Given the description of an element on the screen output the (x, y) to click on. 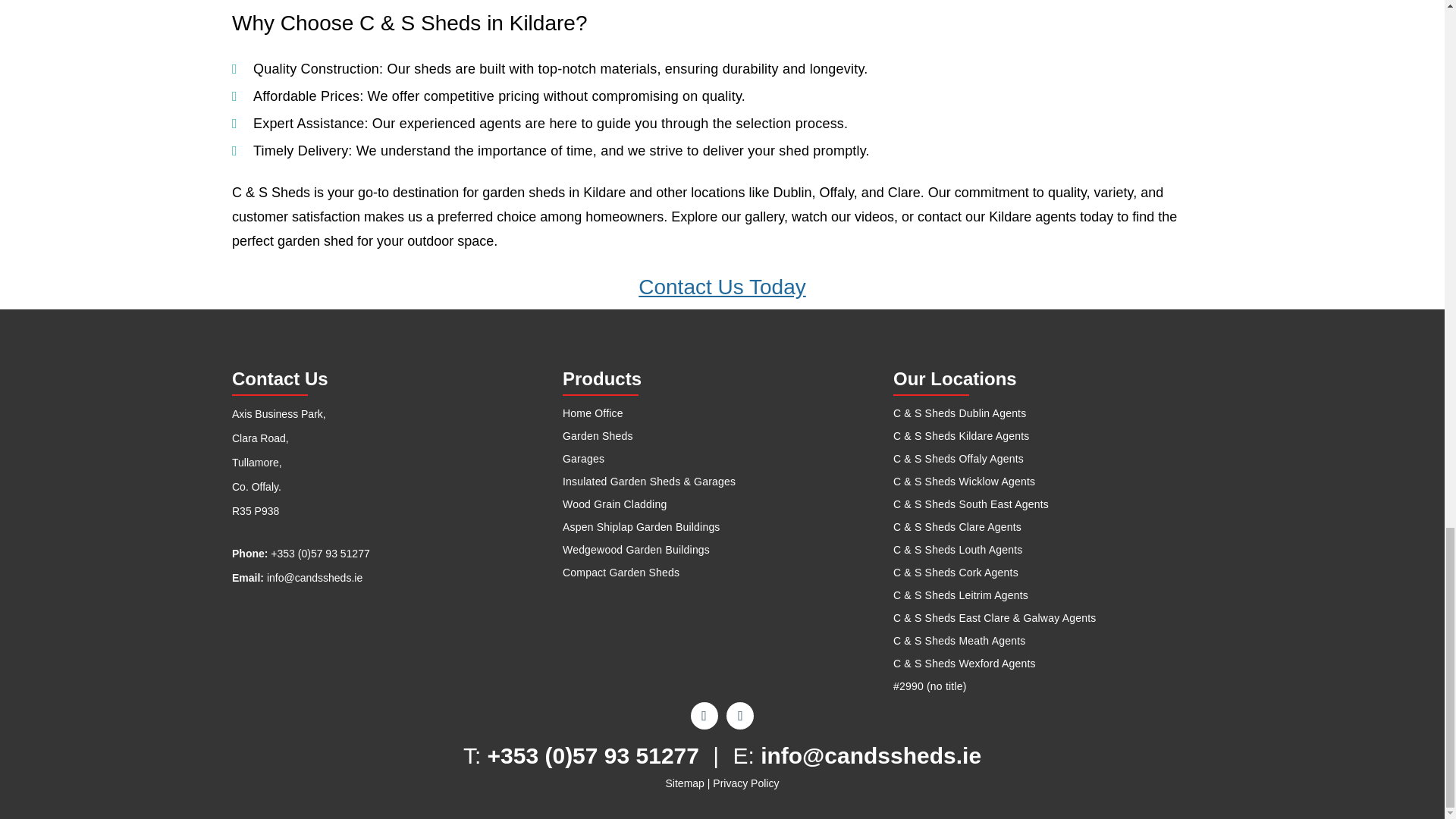
Aspen Shiplap Garden Buildings (722, 526)
Wedgewood Garden Buildings (722, 549)
Garages (722, 458)
Compact Garden Sheds (722, 572)
Wood Grain Cladding (722, 504)
Garden Sheds (722, 436)
Follow us on Twitter (740, 715)
Contact Us Today (722, 286)
Follow us on Facebook (703, 715)
Home Office (722, 413)
